Given the description of an element on the screen output the (x, y) to click on. 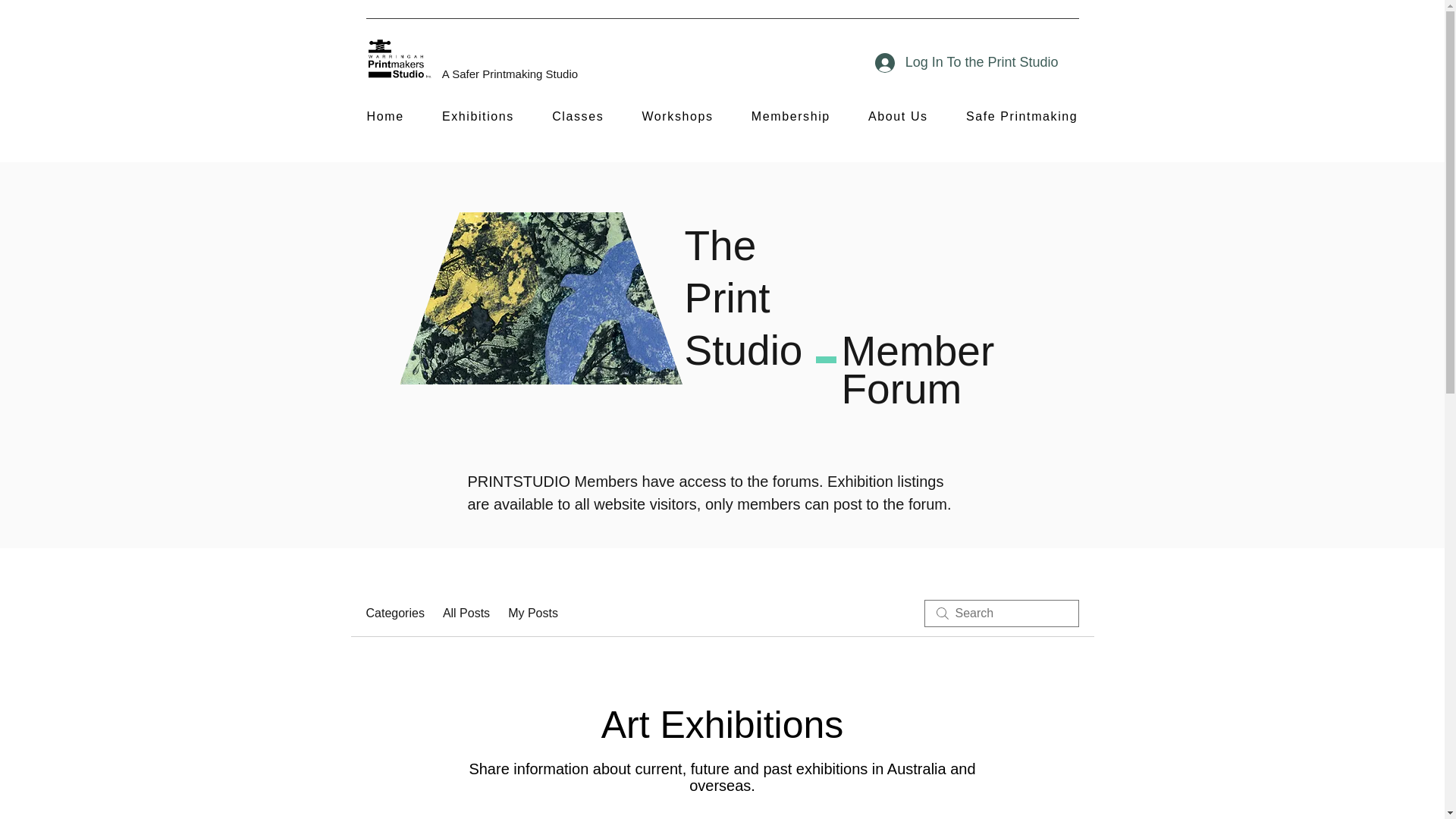
My Posts (532, 613)
Home (384, 116)
All Posts (465, 613)
Log In To the Print Studio (966, 62)
Categories (394, 613)
